Given the description of an element on the screen output the (x, y) to click on. 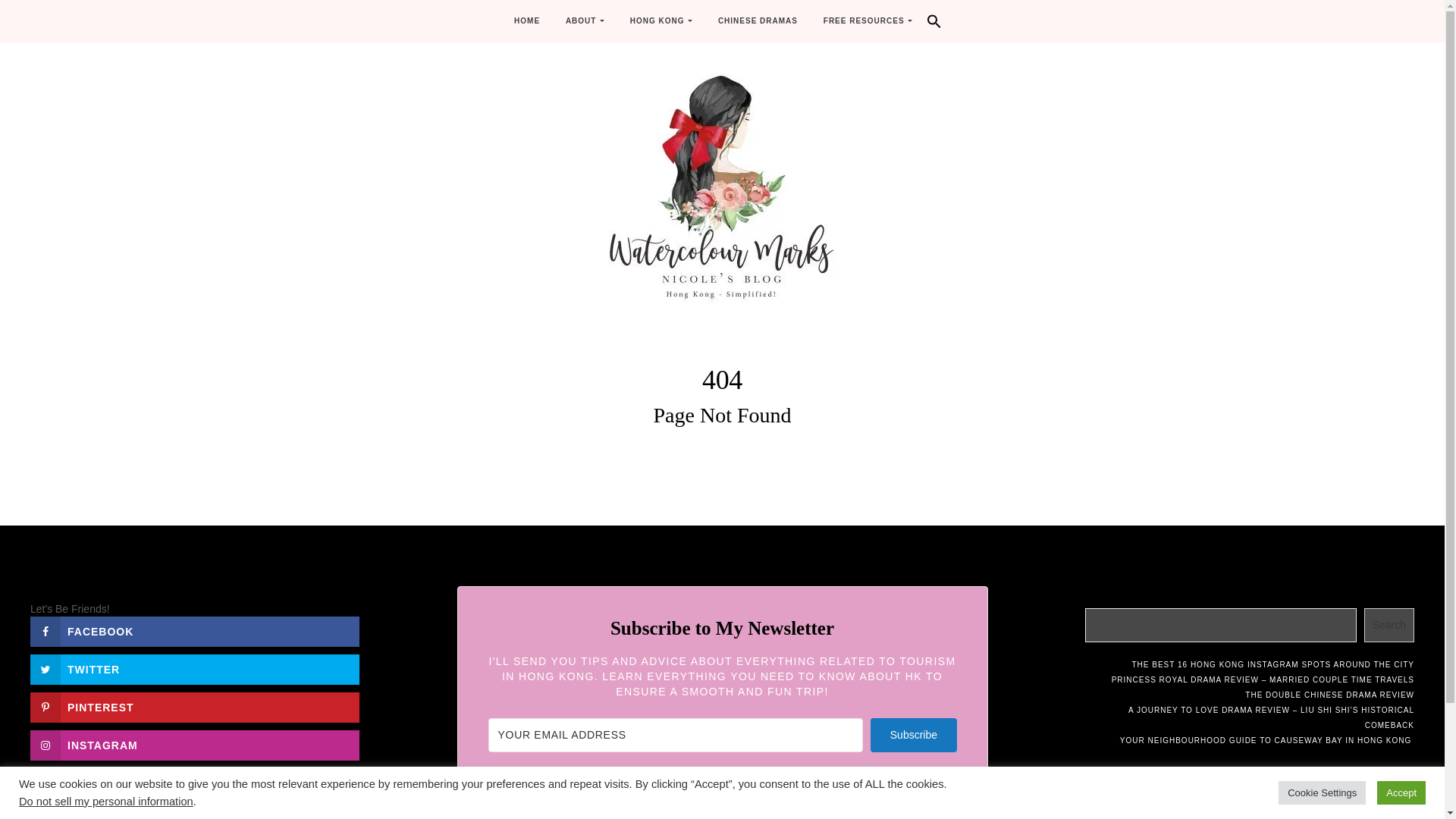
Free Resources (867, 21)
Follow on Pinterest (194, 707)
THE BEST 16 HONG KONG INSTAGRAM SPOTS AROUND THE CITY (1272, 664)
Subscribe (913, 735)
Follow on Facebook (194, 631)
THE DOUBLE CHINESE DRAMA REVIEW (1328, 695)
Follow on Twitter (194, 669)
HOME (526, 21)
YOUR NEIGHBOURHOOD GUIDE TO CAUSEWAY BAY IN HONG KONG  (1266, 740)
TWITTER (194, 669)
DISCLAIMER PAGE (279, 790)
Built with ConvertKit (722, 808)
Hong Kong (660, 21)
FREE RESOURCES (867, 21)
About (584, 21)
